Given the description of an element on the screen output the (x, y) to click on. 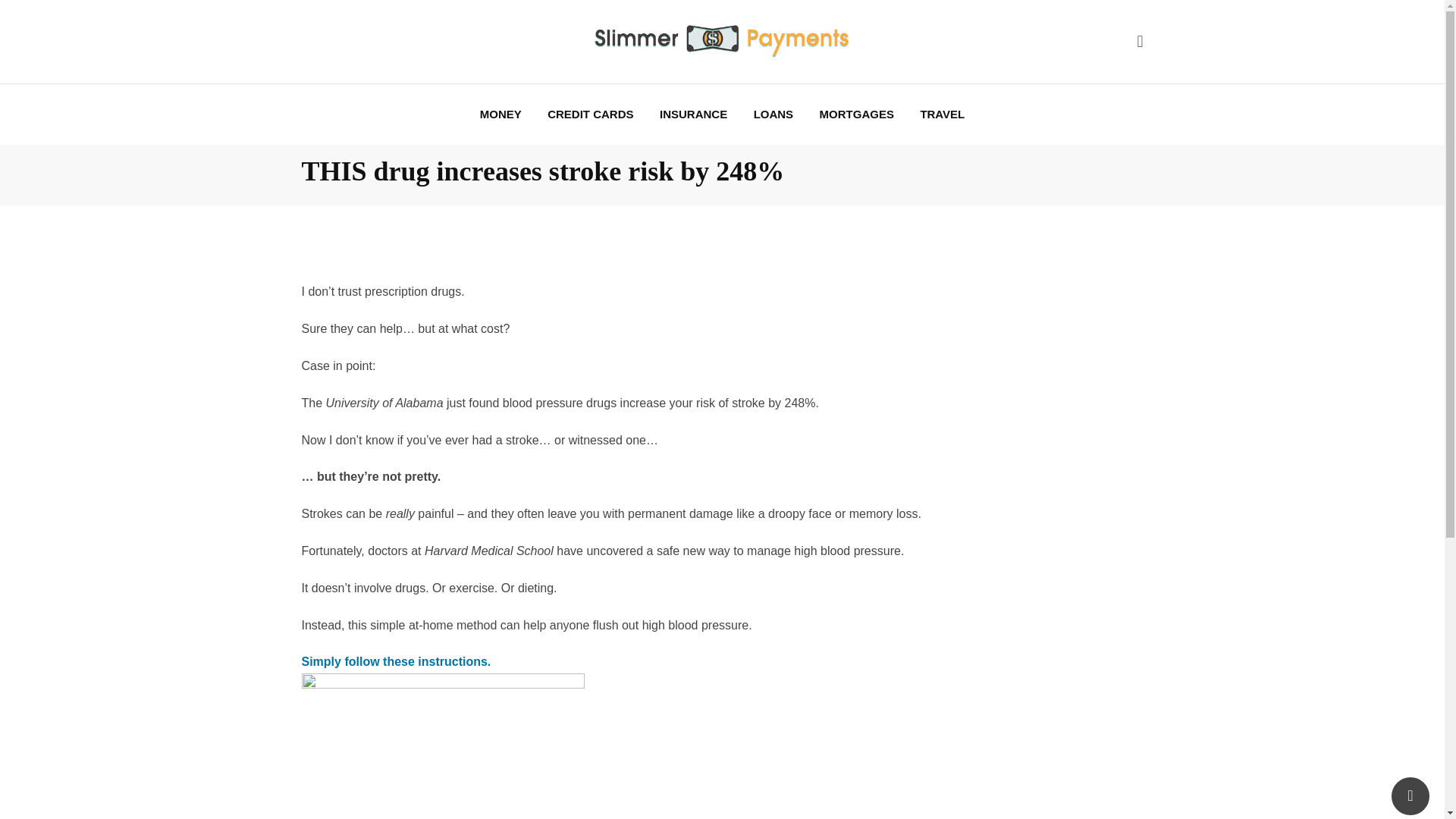
LOANS (773, 114)
MORTGAGES (856, 114)
MONEY (500, 114)
TRAVEL (941, 114)
INSURANCE (692, 114)
CREDIT CARDS (590, 114)
